Given the description of an element on the screen output the (x, y) to click on. 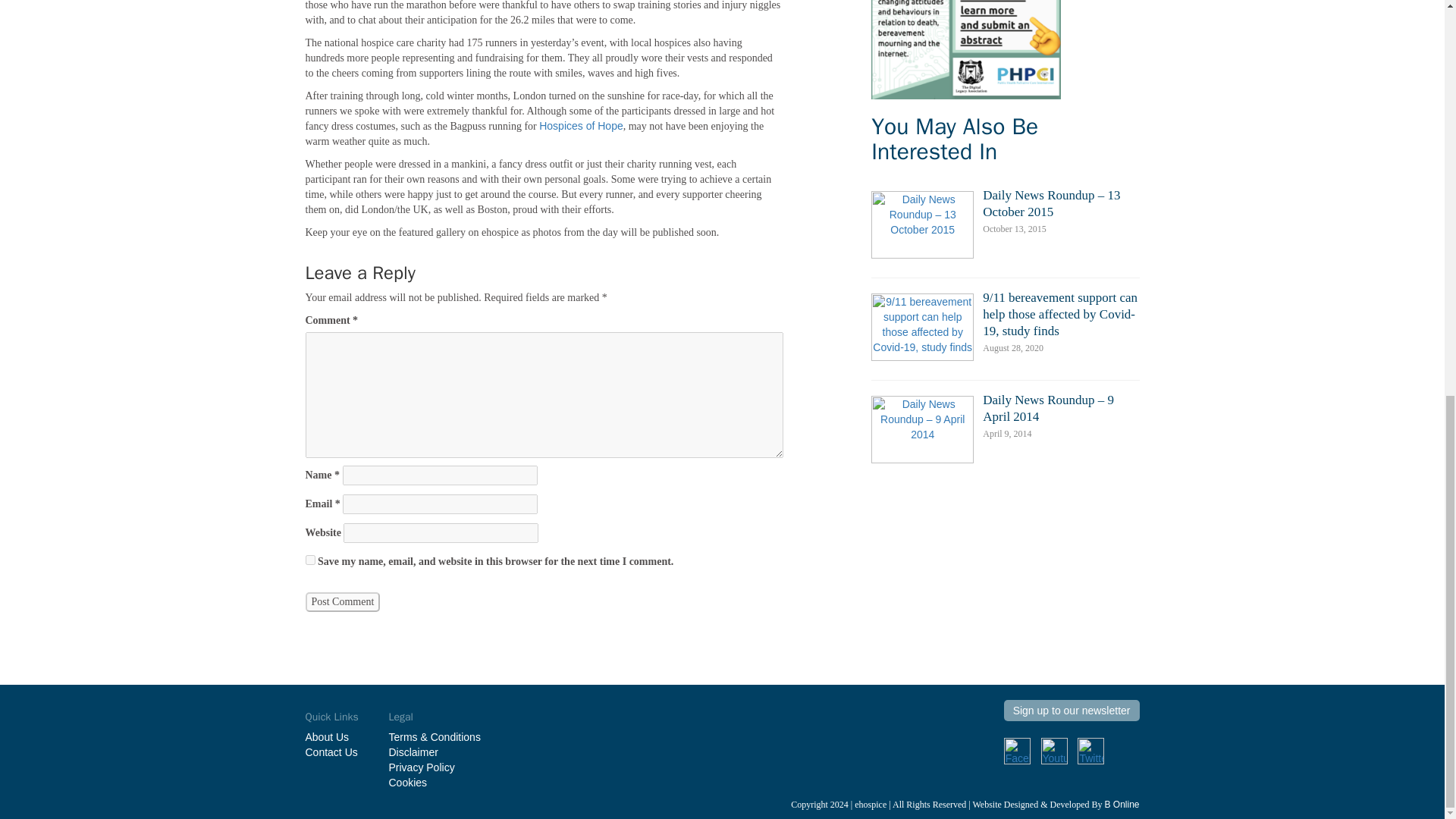
Post Comment (342, 601)
yes (309, 560)
